Given the description of an element on the screen output the (x, y) to click on. 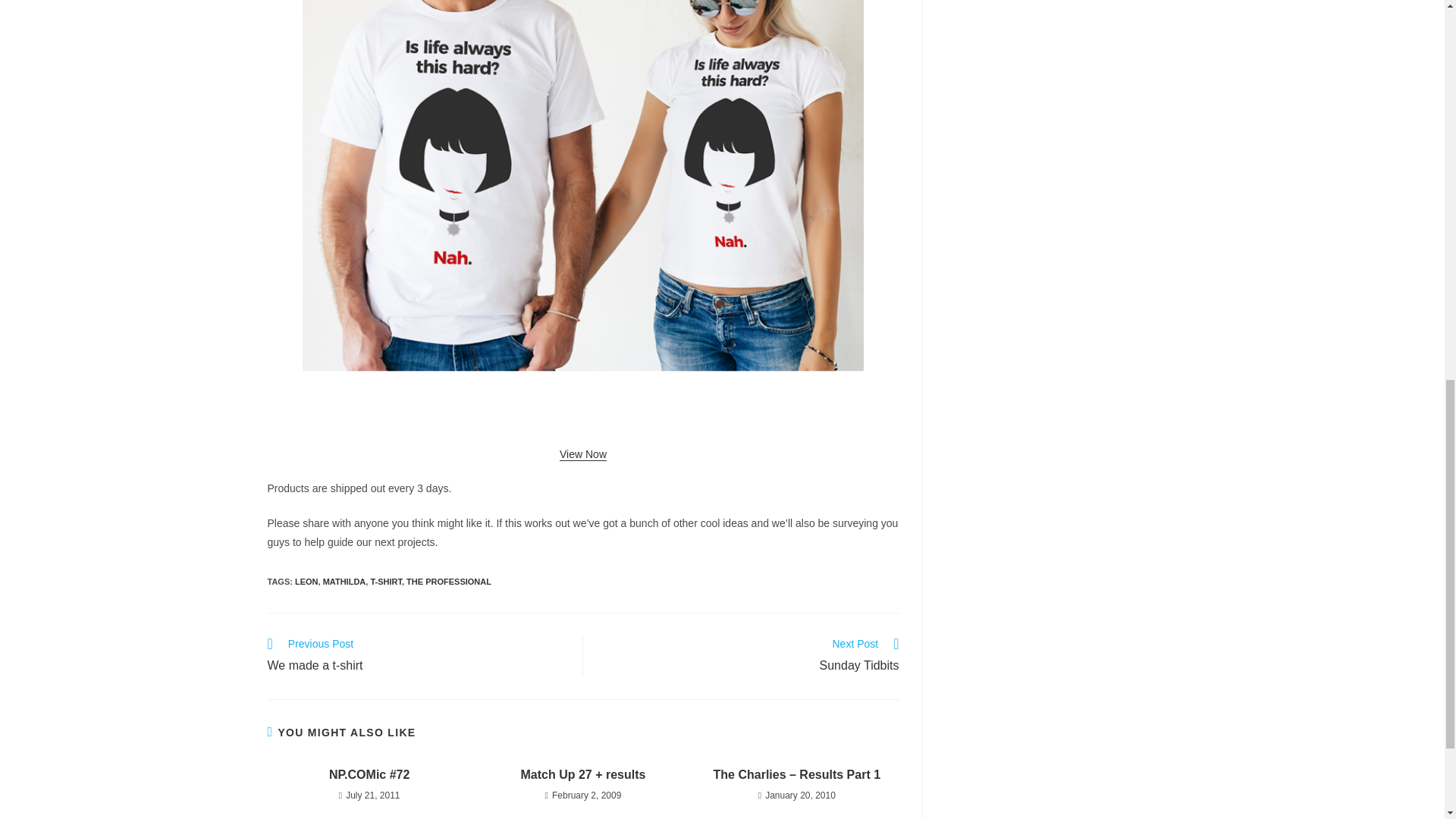
MATHILDA (344, 581)
LEON (306, 581)
T-SHIRT (385, 581)
View Now (416, 656)
THE PROFESSIONAL (583, 453)
